Given the description of an element on the screen output the (x, y) to click on. 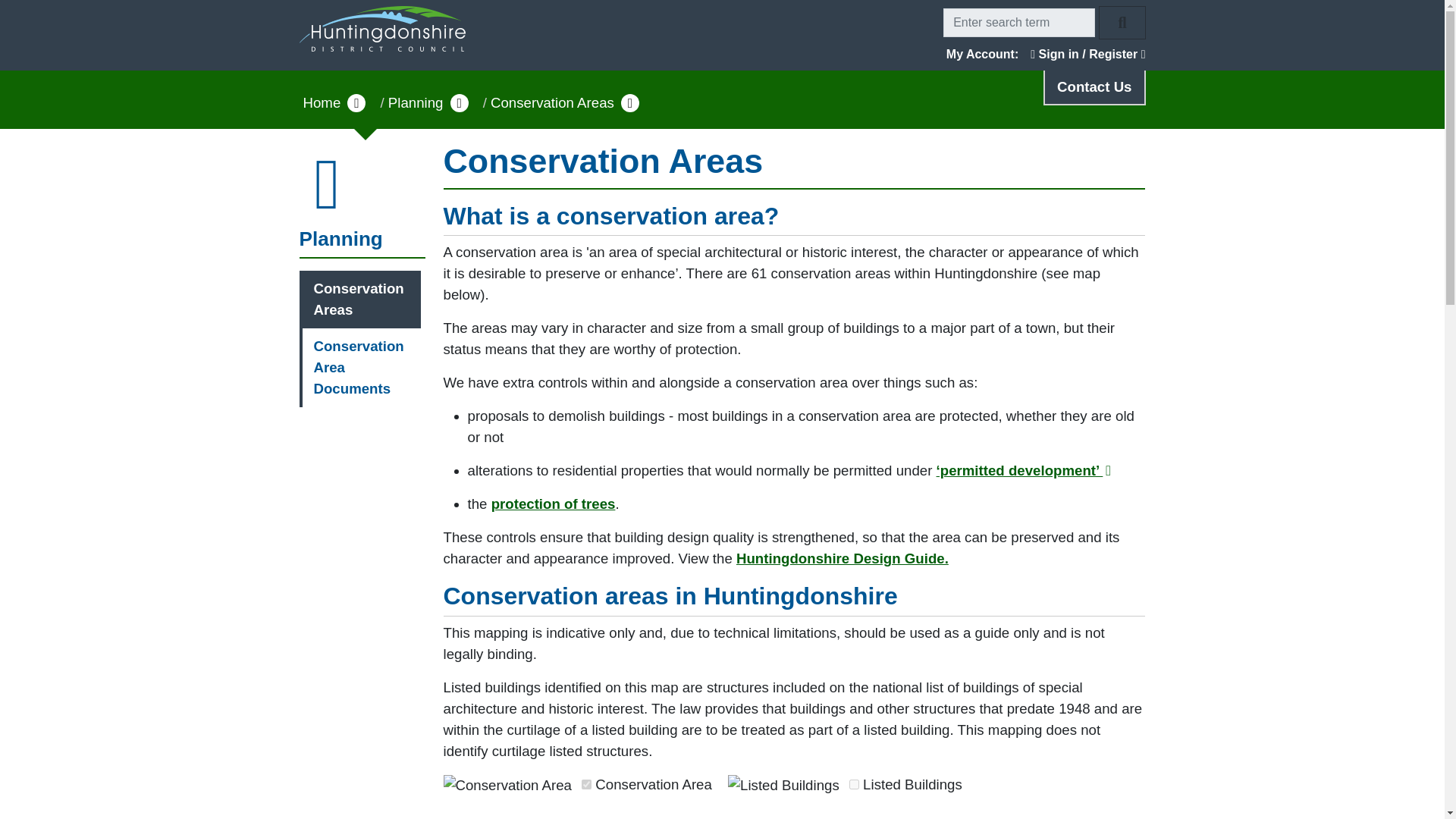
Search Here (1018, 22)
Go to Conservation Areas (360, 299)
Planning (361, 195)
Go to the Planning Policy Documents page (842, 558)
Header Navigation (721, 22)
1 (853, 784)
Protected Trees (553, 503)
0 (585, 784)
Go to Conservation Area Documents (360, 367)
